Given the description of an element on the screen output the (x, y) to click on. 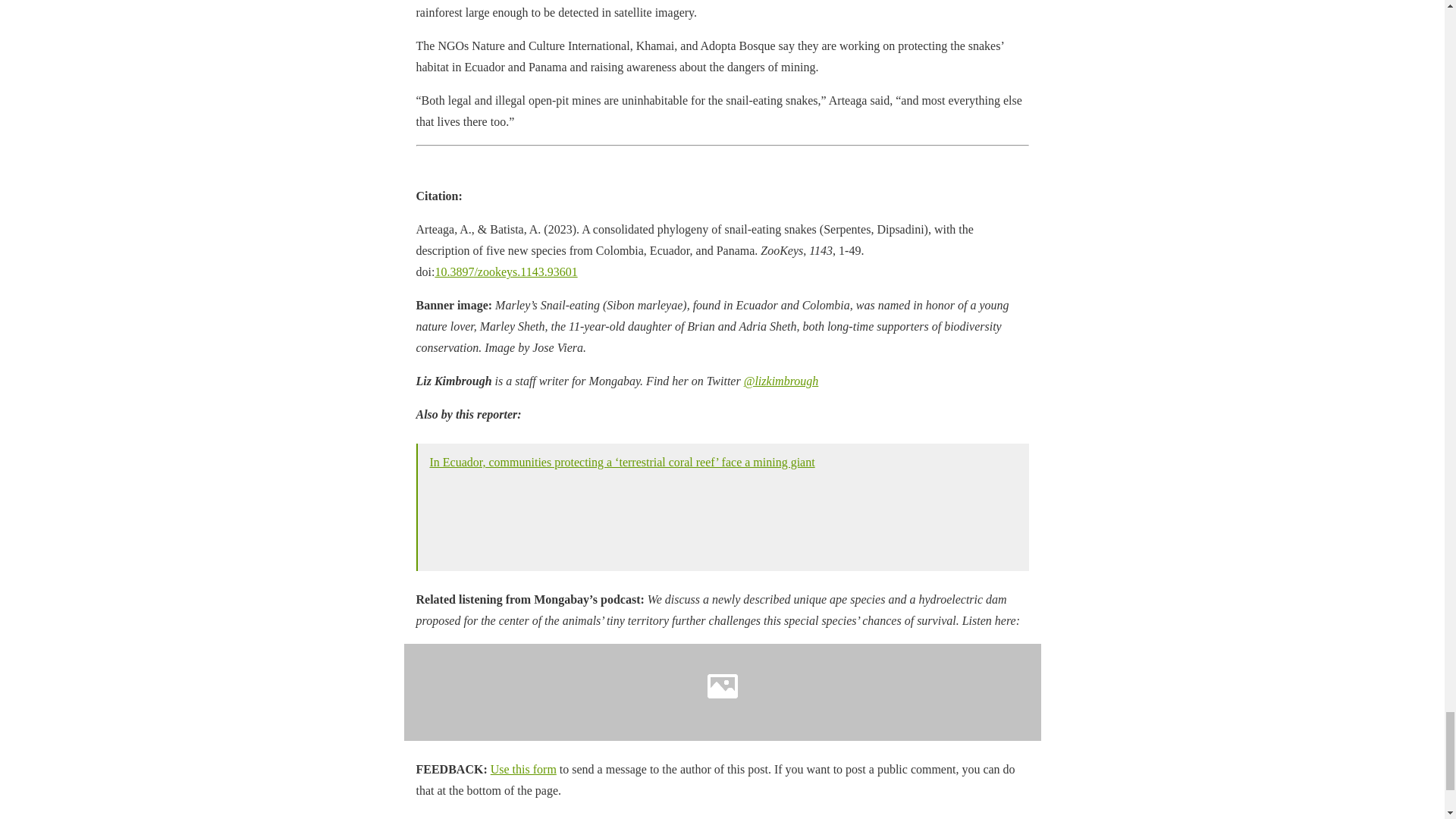
Embed Player (722, 692)
Use this form (523, 768)
